Given the description of an element on the screen output the (x, y) to click on. 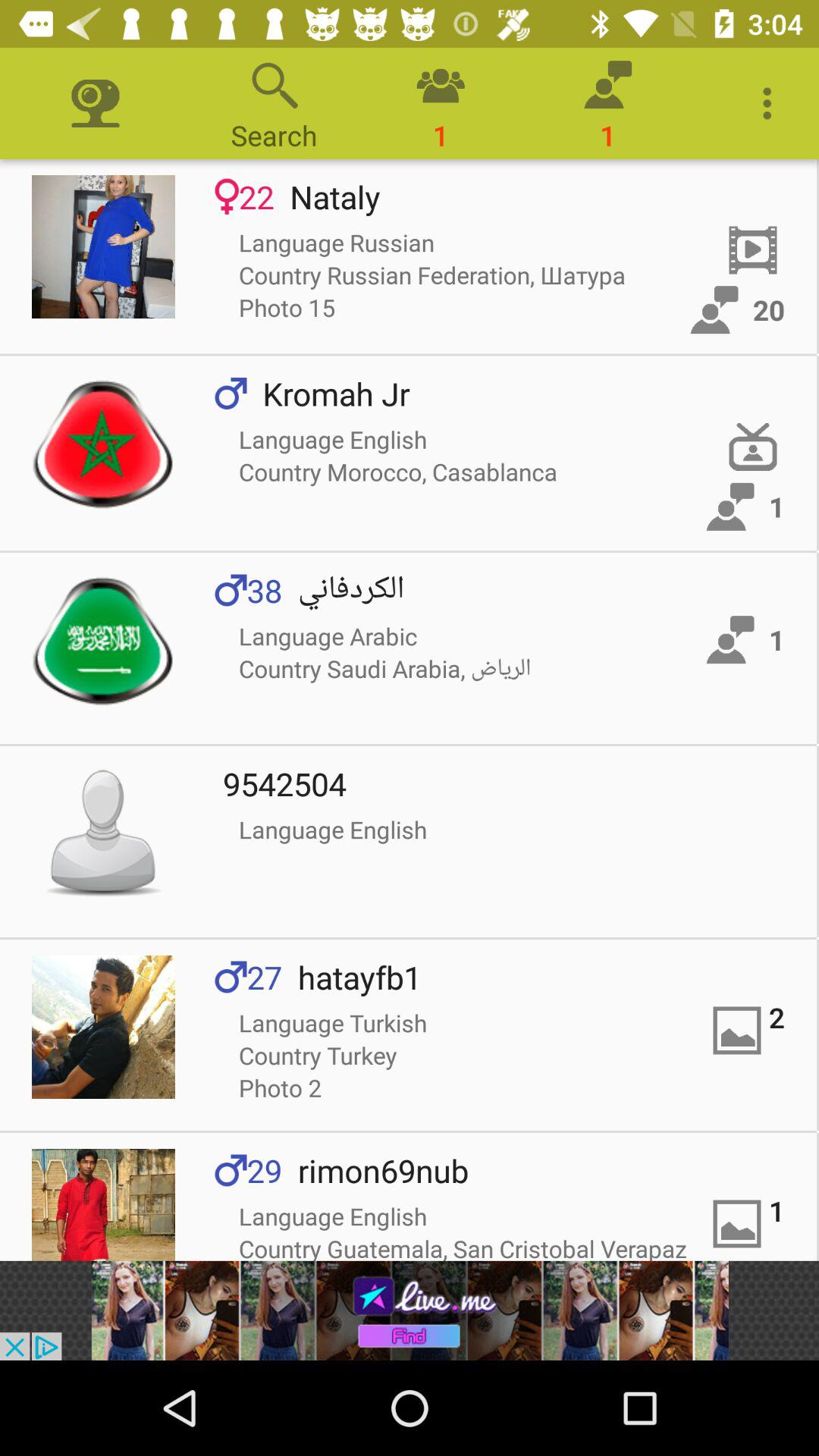
open item (103, 443)
